Given the description of an element on the screen output the (x, y) to click on. 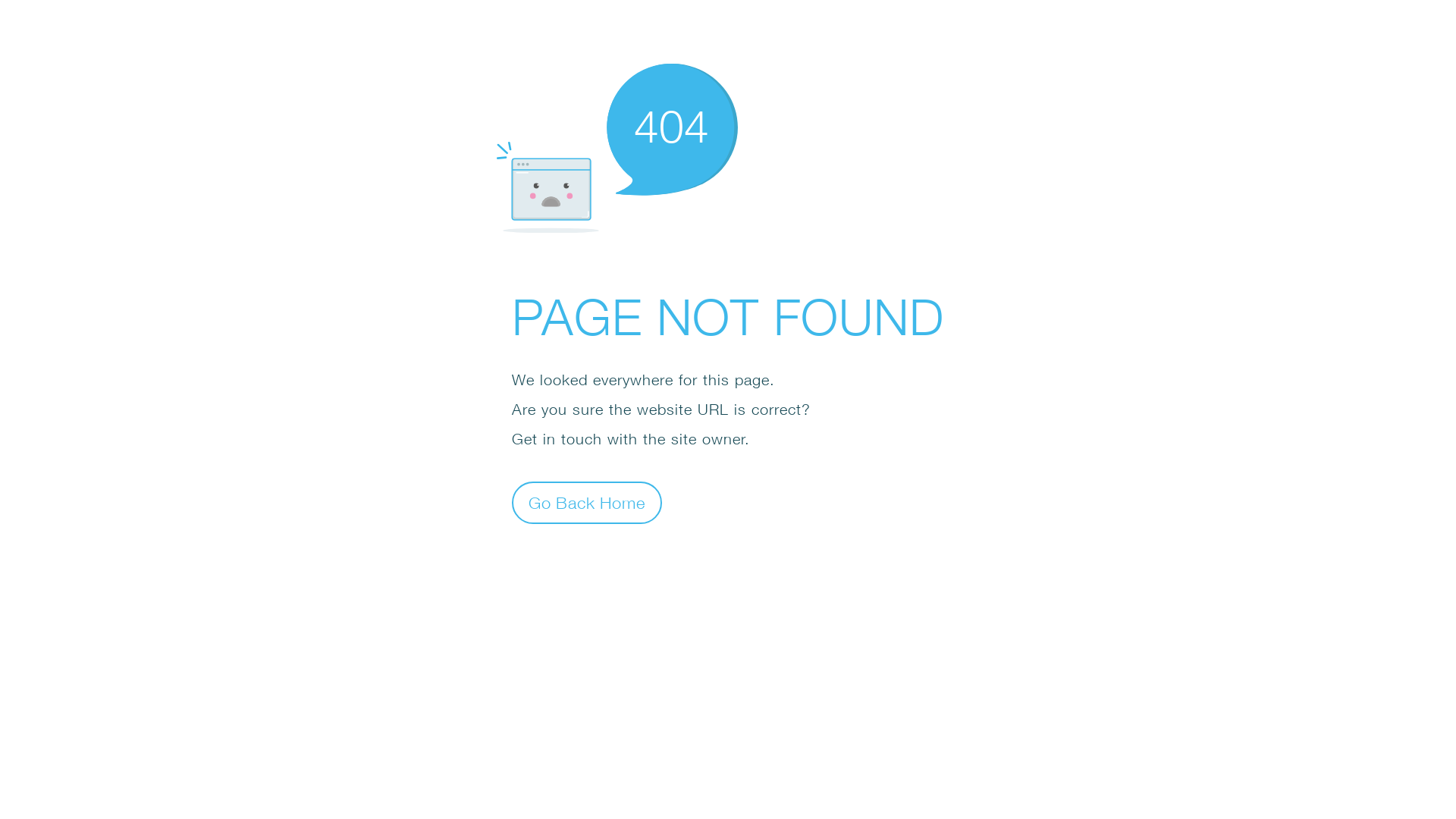
Go Back Home Element type: text (586, 502)
